Given the description of an element on the screen output the (x, y) to click on. 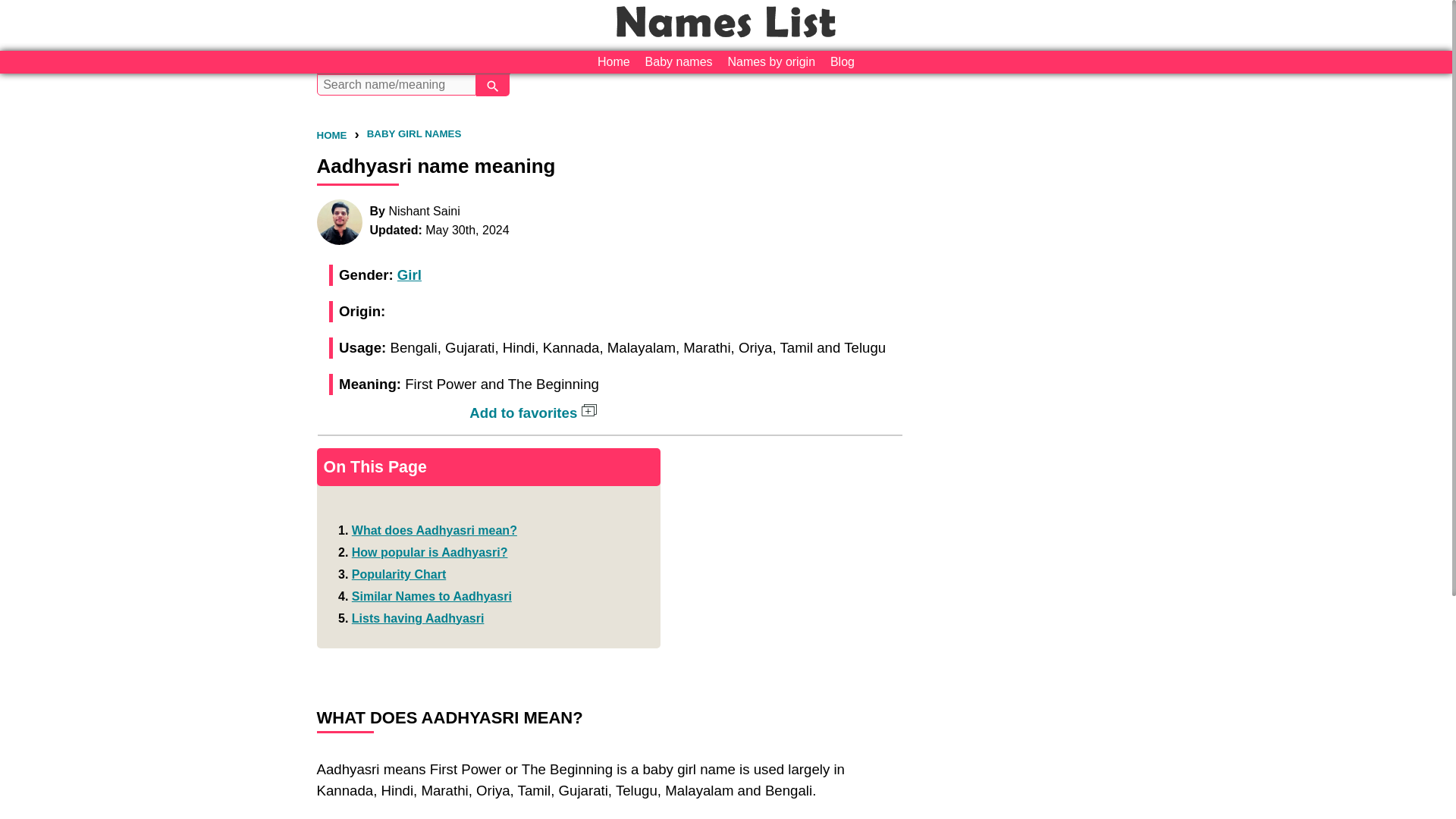
Lists having Aadhyasri (418, 617)
Popularity Chart (398, 574)
BABY GIRL NAMES (413, 133)
How popular is Aadhyasri? (430, 552)
Names by origin (770, 61)
Similar Names to Aadhyasri (432, 595)
What does Aadhyasri mean? (434, 530)
HOME (332, 134)
Blog (842, 61)
Baby names (679, 61)
Girl (409, 274)
Home (613, 61)
